Given the description of an element on the screen output the (x, y) to click on. 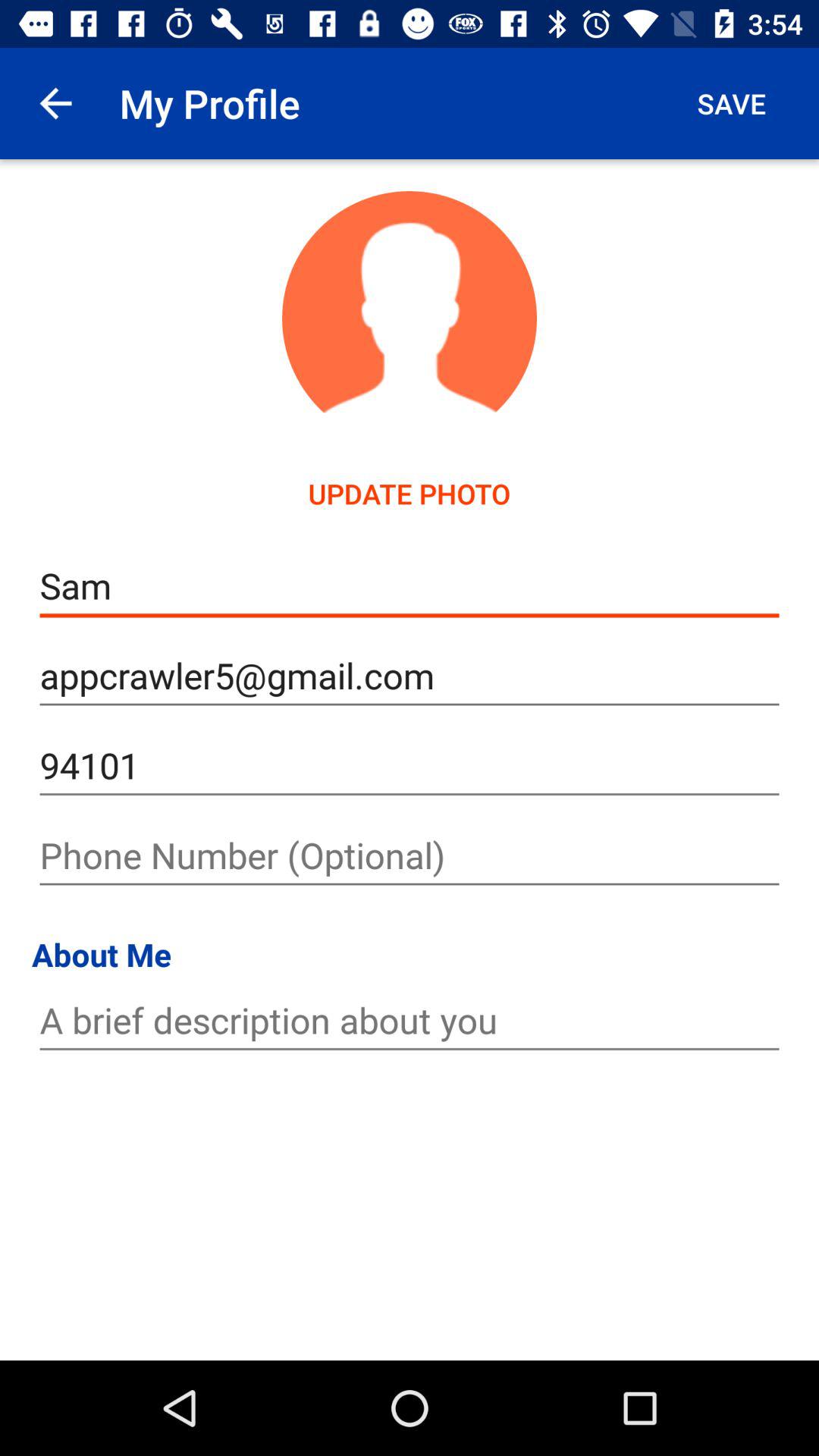
jump until 94101 item (409, 766)
